Given the description of an element on the screen output the (x, y) to click on. 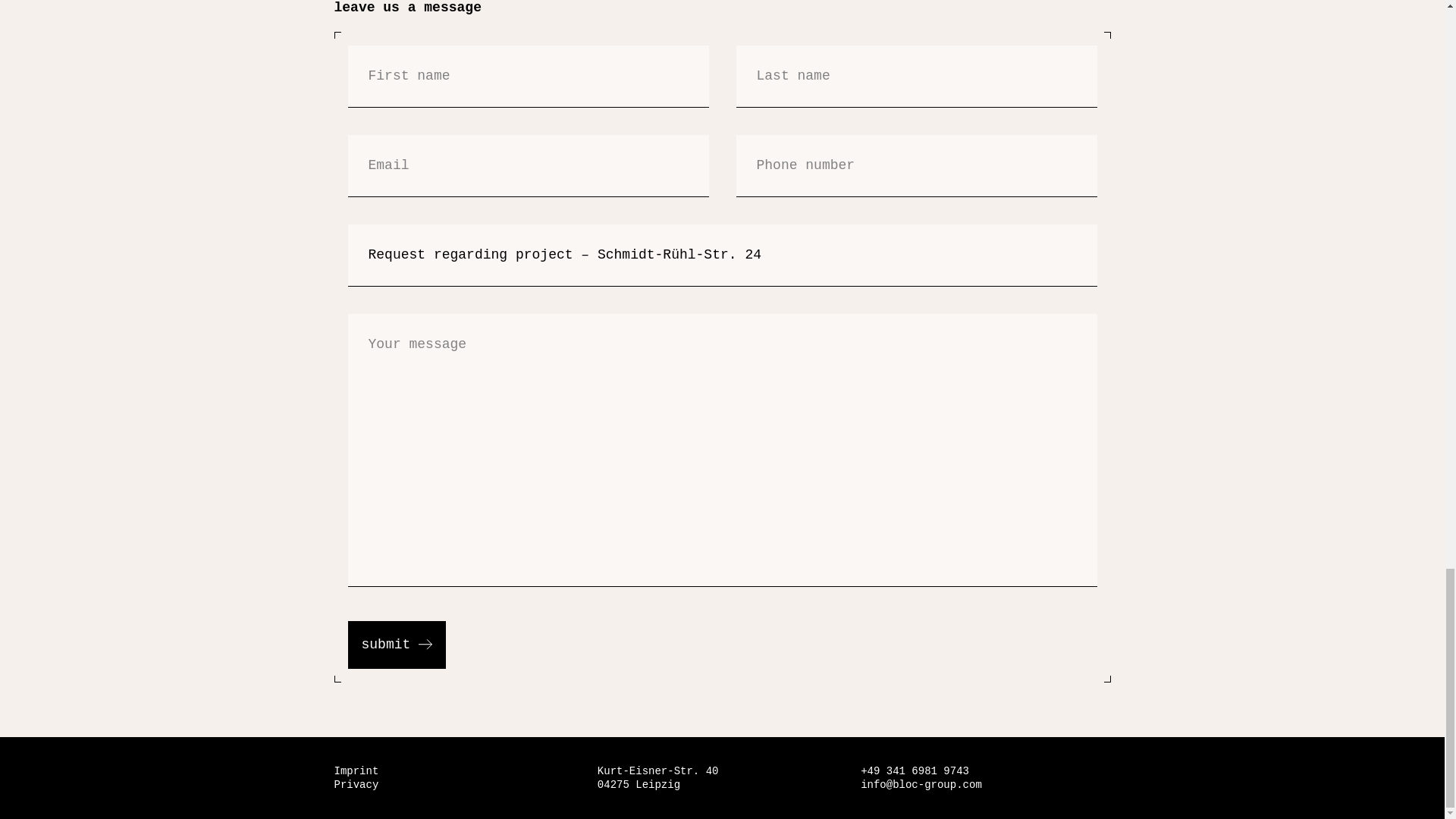
Privacy (355, 784)
submit (396, 644)
Imprint (355, 770)
